Given the description of an element on the screen output the (x, y) to click on. 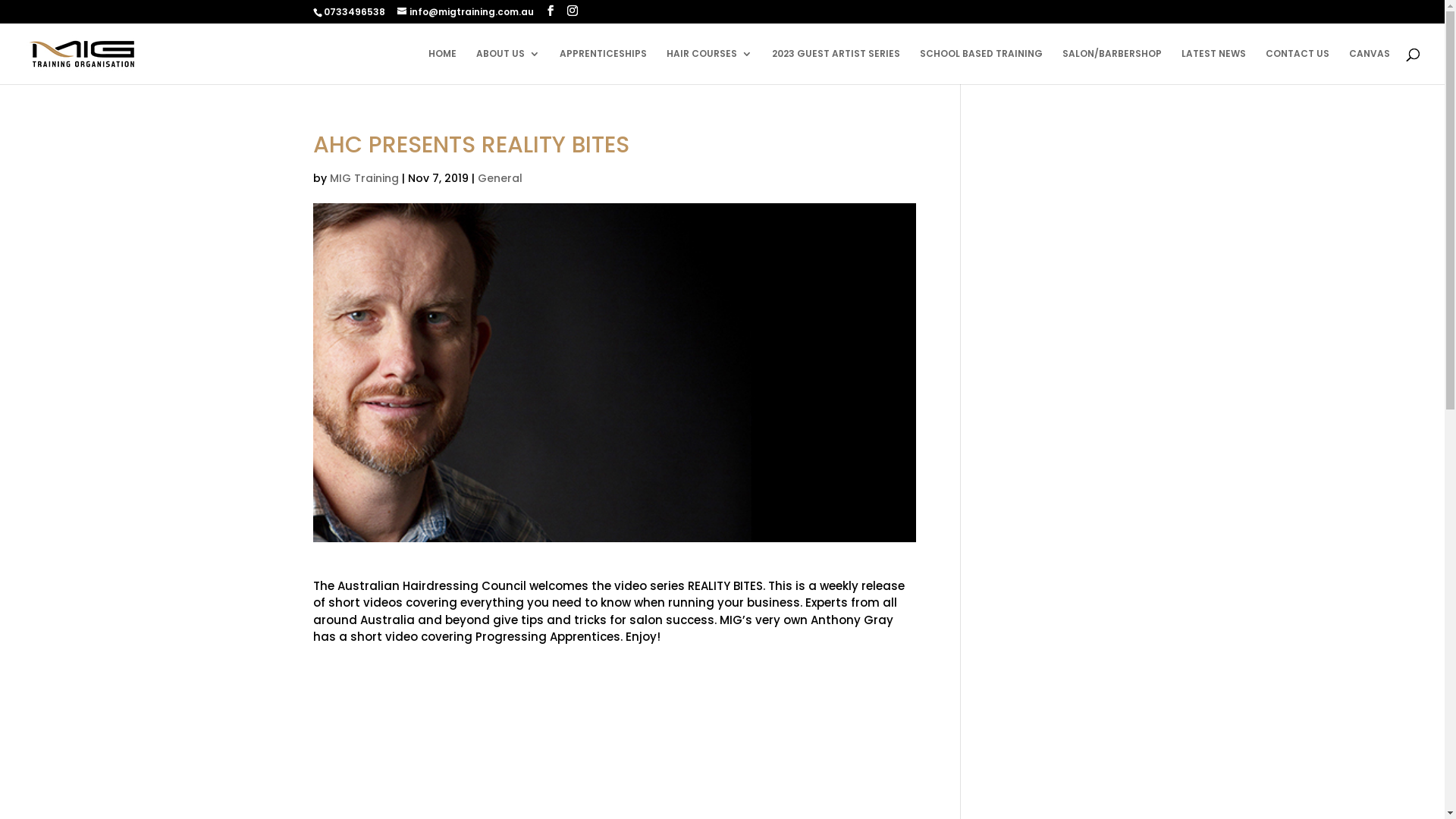
APPRENTICESHIPS Element type: text (602, 66)
CANVAS Element type: text (1369, 66)
2023 GUEST ARTIST SERIES Element type: text (835, 66)
General Element type: text (499, 177)
LATEST NEWS Element type: text (1213, 66)
CONTACT US Element type: text (1297, 66)
SALON/BARBERSHOP Element type: text (1111, 66)
SCHOOL BASED TRAINING Element type: text (980, 66)
HOME Element type: text (442, 66)
info@migtraining.com.au Element type: text (465, 11)
HAIR COURSES Element type: text (709, 66)
MIG Training Element type: text (363, 177)
ABOUT US Element type: text (507, 66)
